Given the description of an element on the screen output the (x, y) to click on. 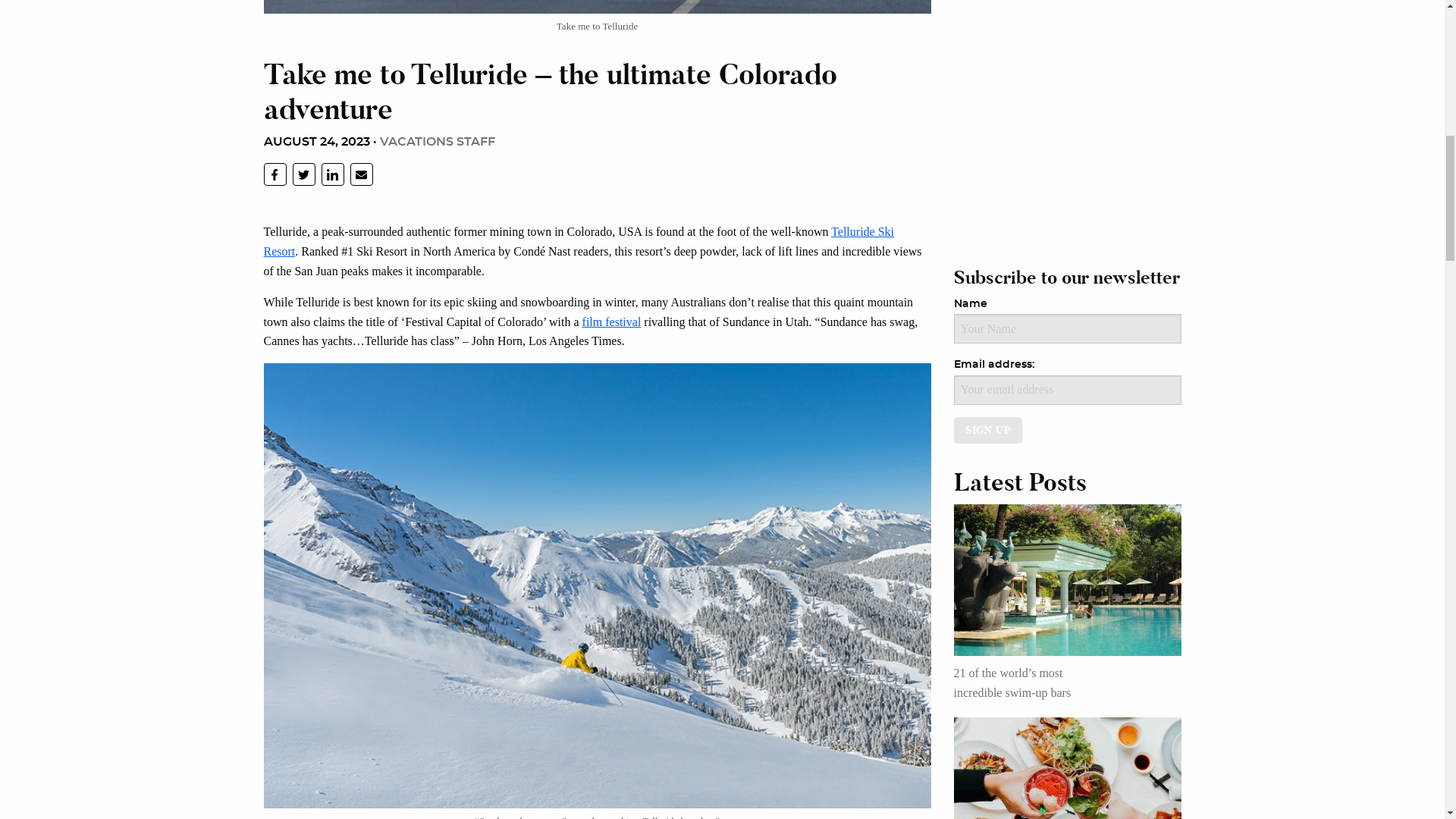
Posts by Vacations Staff (436, 141)
Share on LinkedIn (332, 173)
Share on Twitter (303, 173)
Advertisement (1067, 94)
Sign up (988, 429)
Share on Facebook (274, 173)
Share by Email (361, 173)
